Given the description of an element on the screen output the (x, y) to click on. 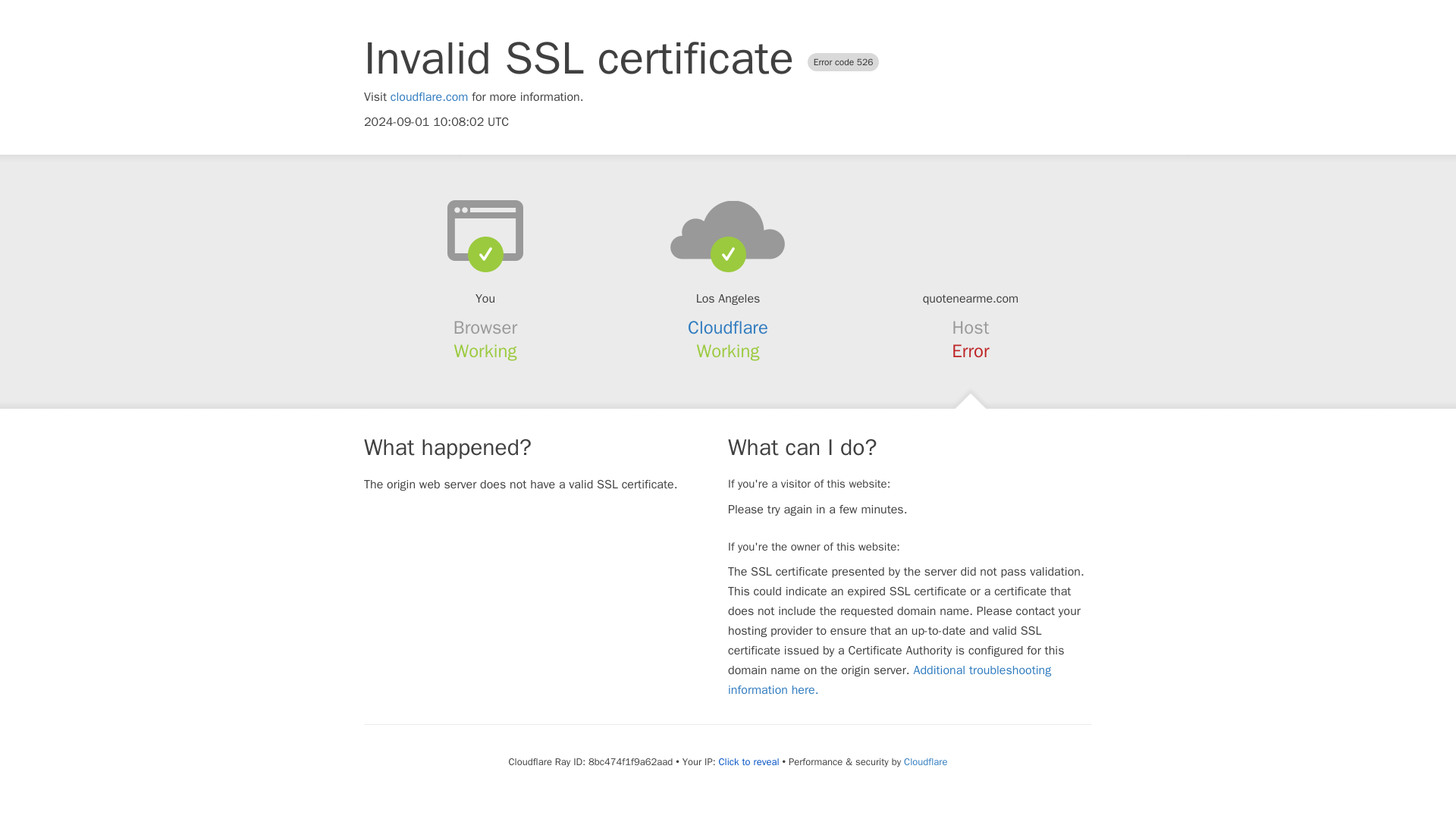
Additional troubleshooting information here. (889, 679)
Cloudflare (727, 327)
Click to reveal (748, 762)
cloudflare.com (429, 96)
Cloudflare (925, 761)
